Given the description of an element on the screen output the (x, y) to click on. 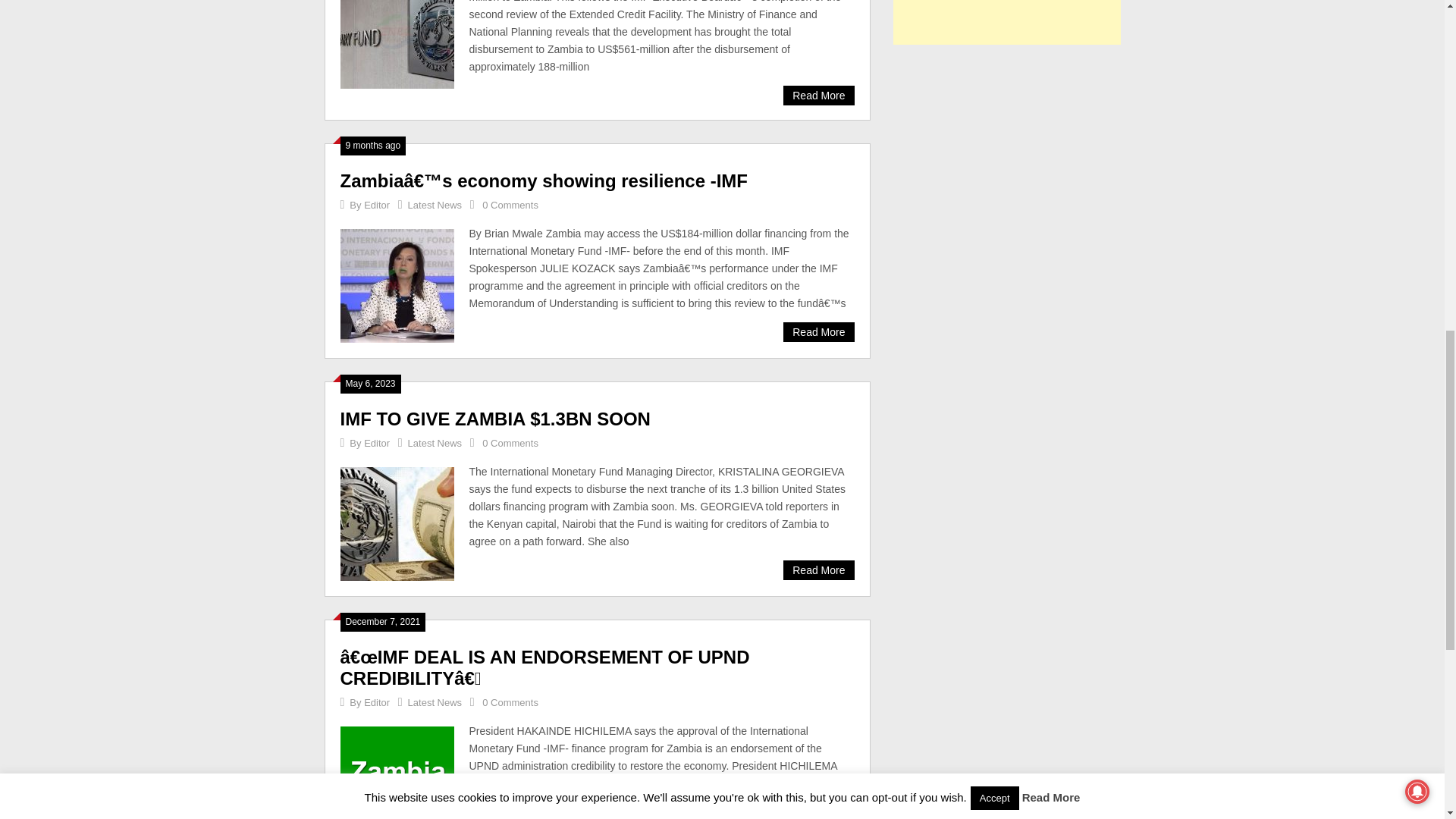
Read More (818, 95)
Latest News (435, 204)
Read More (818, 332)
0 Comments (509, 204)
Editor (377, 442)
Editor (377, 204)
Latest News (435, 442)
Read More (818, 569)
0 Comments (509, 442)
